Given the description of an element on the screen output the (x, y) to click on. 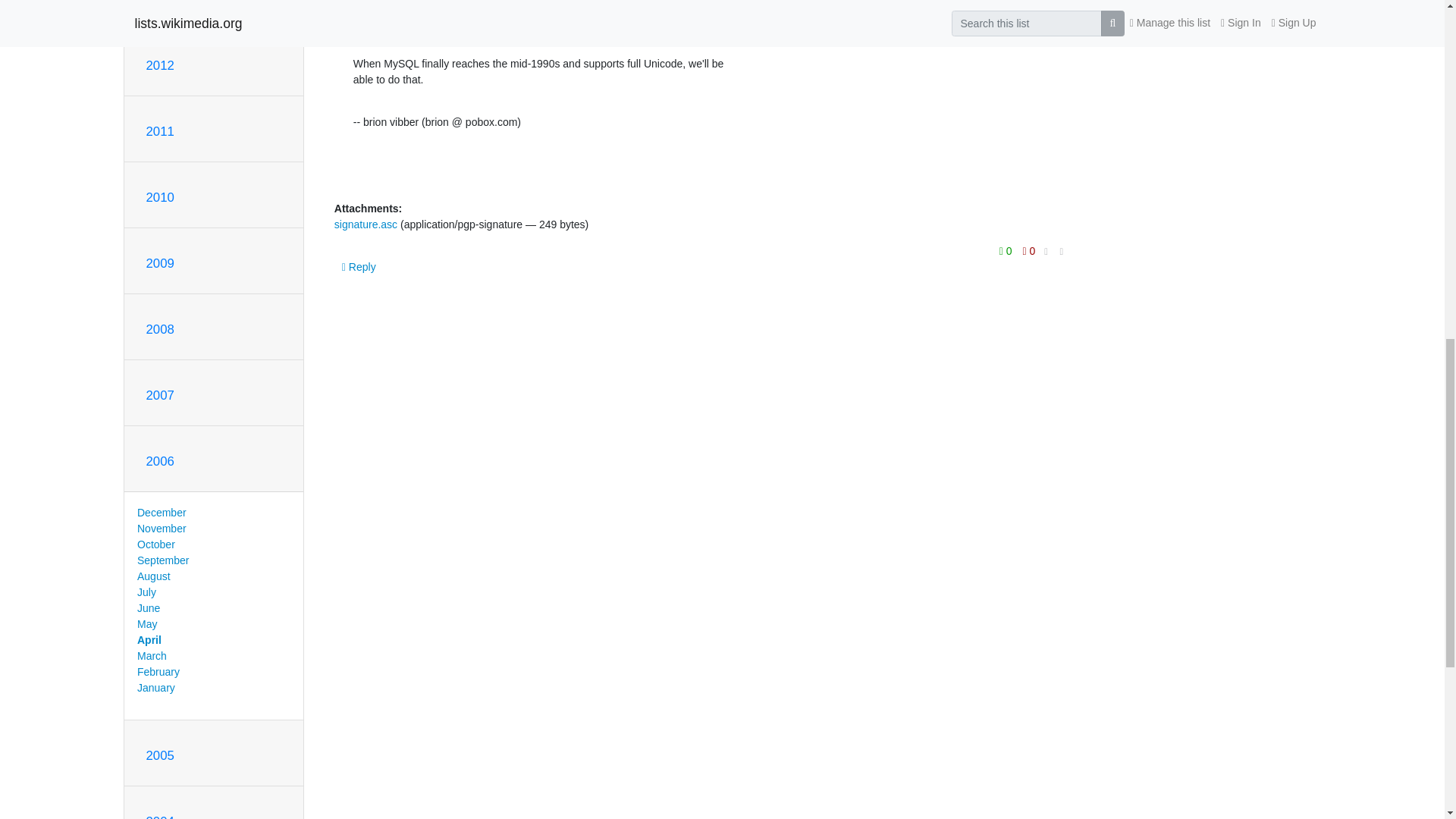
You must be logged-in to vote. (1029, 250)
You must be logged-in to vote. (1007, 250)
Sign in to reply online (359, 266)
